Given the description of an element on the screen output the (x, y) to click on. 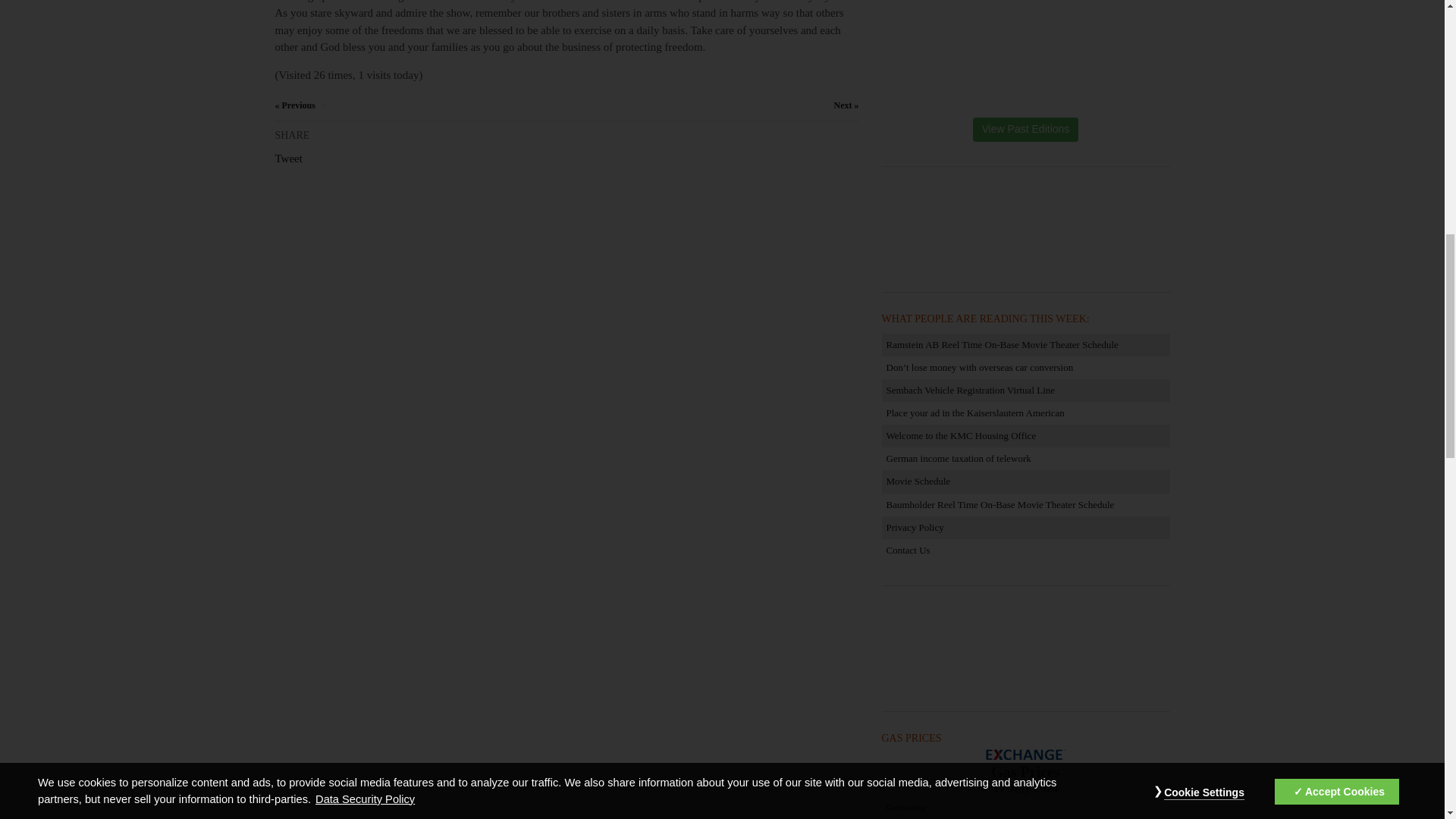
3rd party ad content (1025, 650)
Commander expresses honor, pride during July 4 (294, 104)
3rd party ad content (1025, 231)
